Given the description of an element on the screen output the (x, y) to click on. 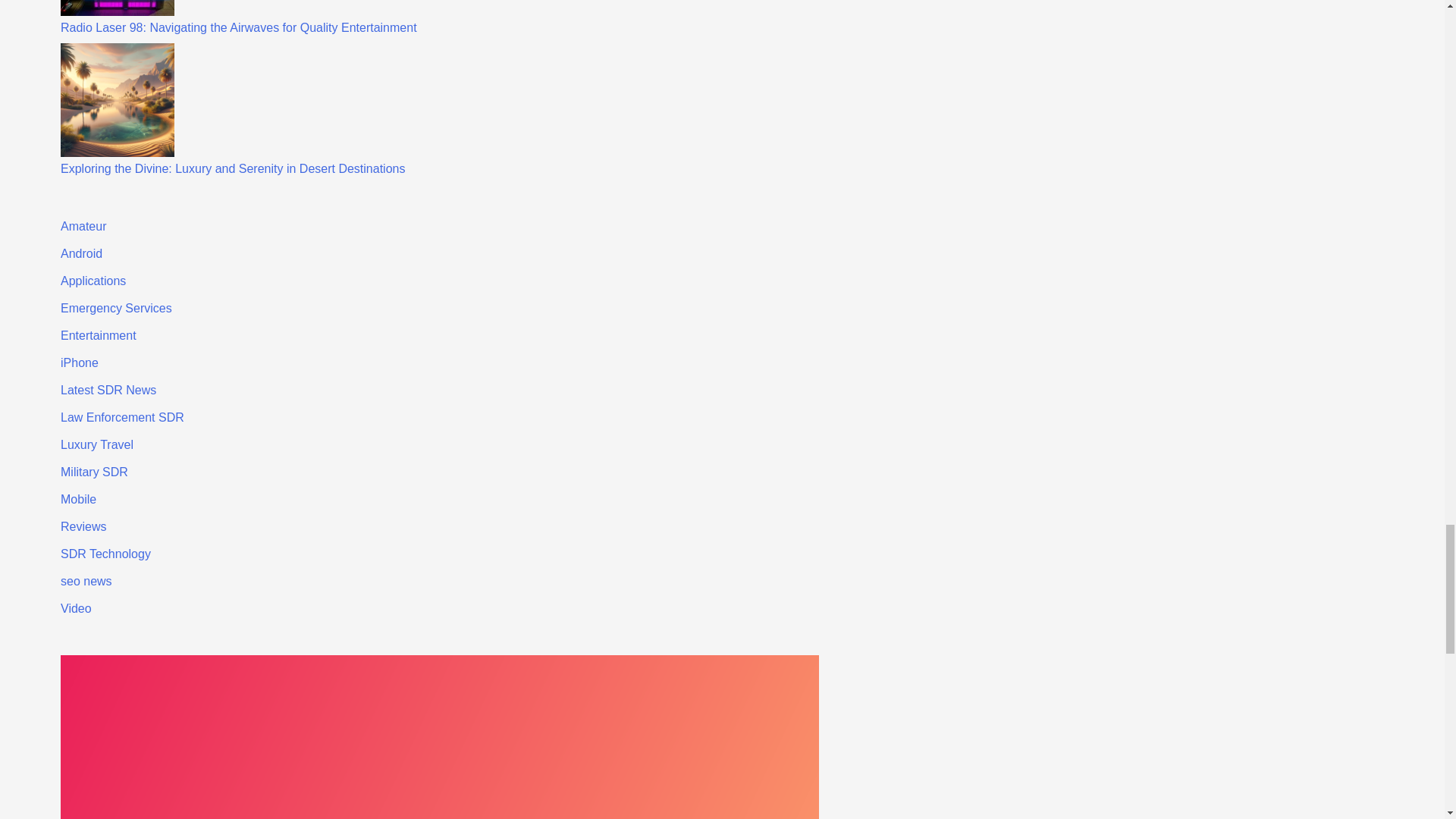
Applications (93, 280)
Android (81, 253)
Entertainment (98, 335)
Emergency Services (116, 308)
Amateur (83, 226)
